Given the description of an element on the screen output the (x, y) to click on. 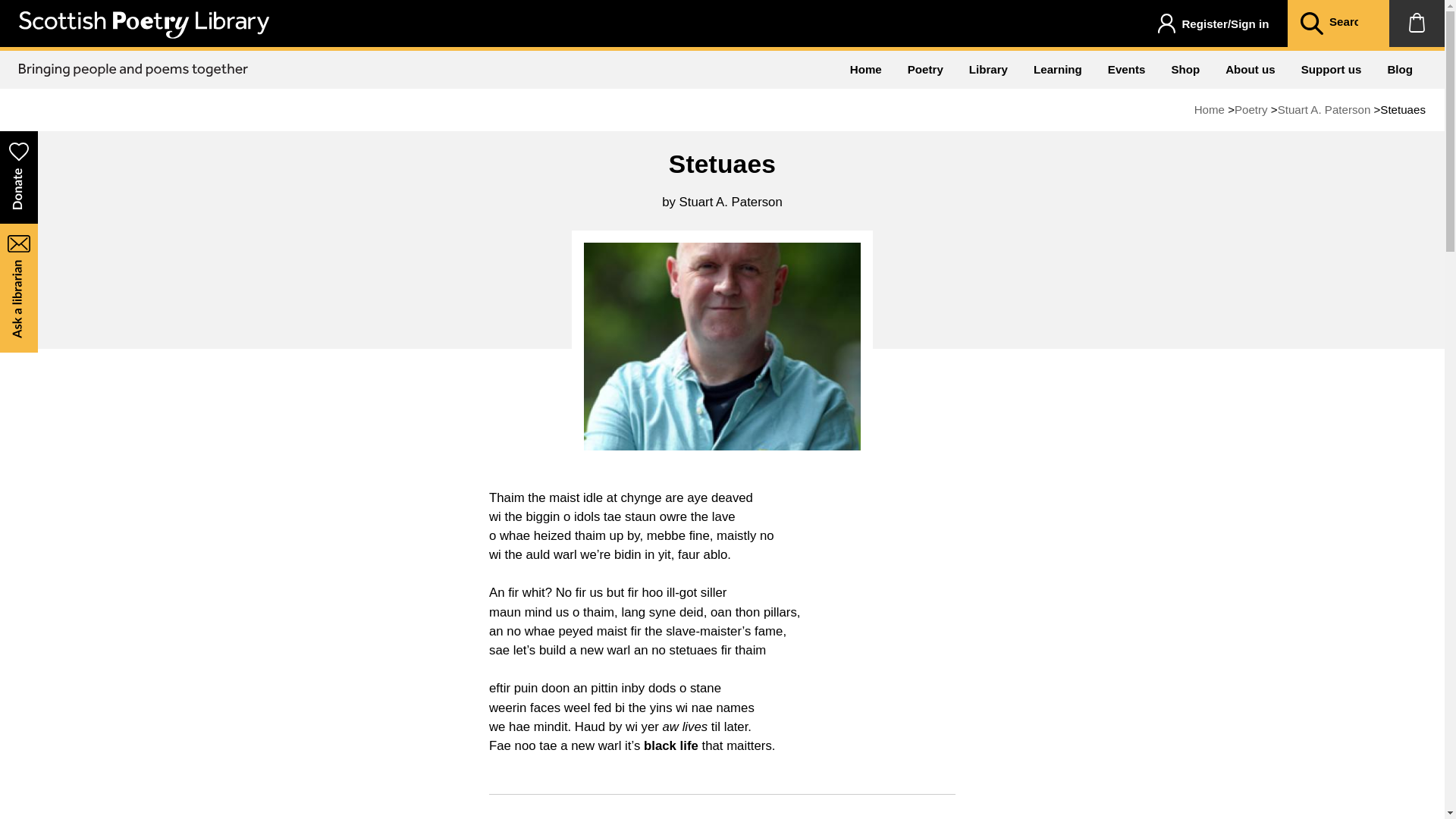
Learning (1057, 69)
Poetry (1251, 109)
Library (988, 69)
Shopping Bag (1416, 23)
Poetry (925, 69)
Scottish Poetry Library logo (143, 24)
Search (1310, 24)
Home (866, 69)
Scottish Poetry Library (143, 34)
Search site: (1350, 22)
Stuart A. Paterson (1324, 109)
Home (1208, 109)
